Given the description of an element on the screen output the (x, y) to click on. 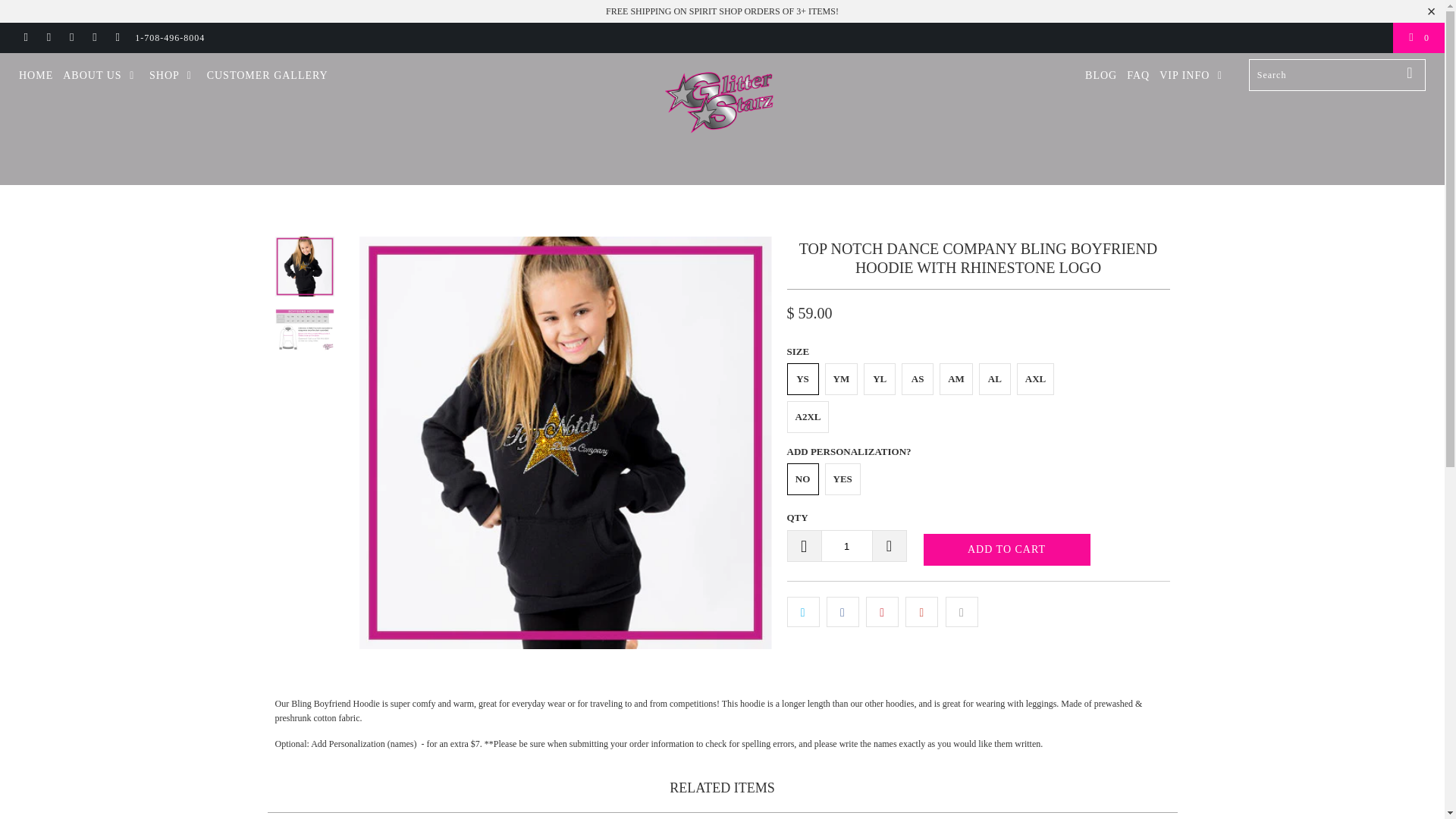
Glitterstarz on Instagram (71, 37)
1 (846, 545)
Glitterstarz (722, 119)
Email Glitterstarz (116, 37)
Glitterstarz on Facebook (25, 37)
Glitterstarz on Snapchat (93, 37)
Share this on Pinterest (882, 611)
Email this to a friend (961, 611)
Share this on Facebook (843, 611)
Share this on Twitter (803, 611)
Glitterstarz on YouTube (48, 37)
